Given the description of an element on the screen output the (x, y) to click on. 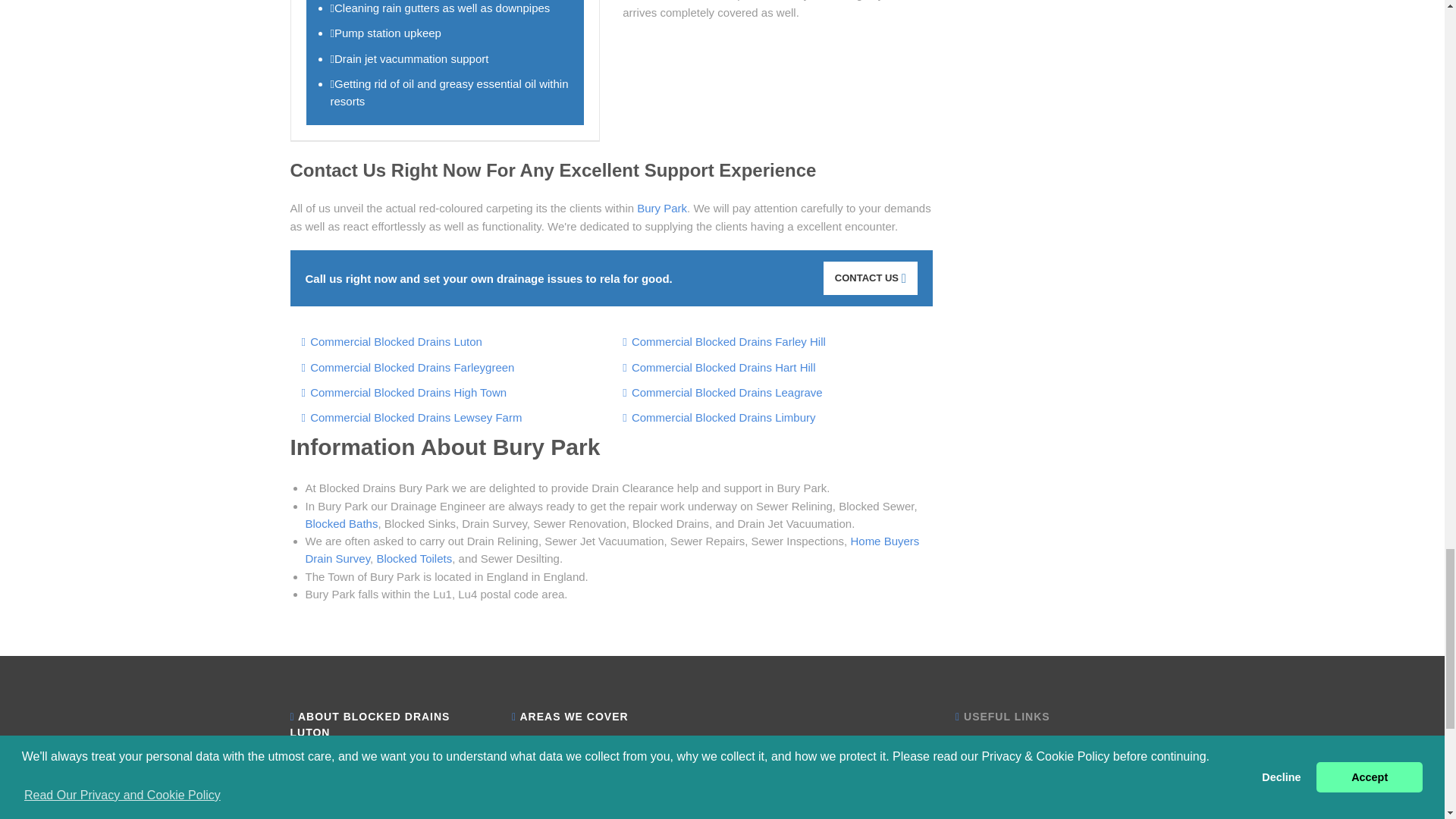
blockeddrains-luton.uk (370, 796)
